Given the description of an element on the screen output the (x, y) to click on. 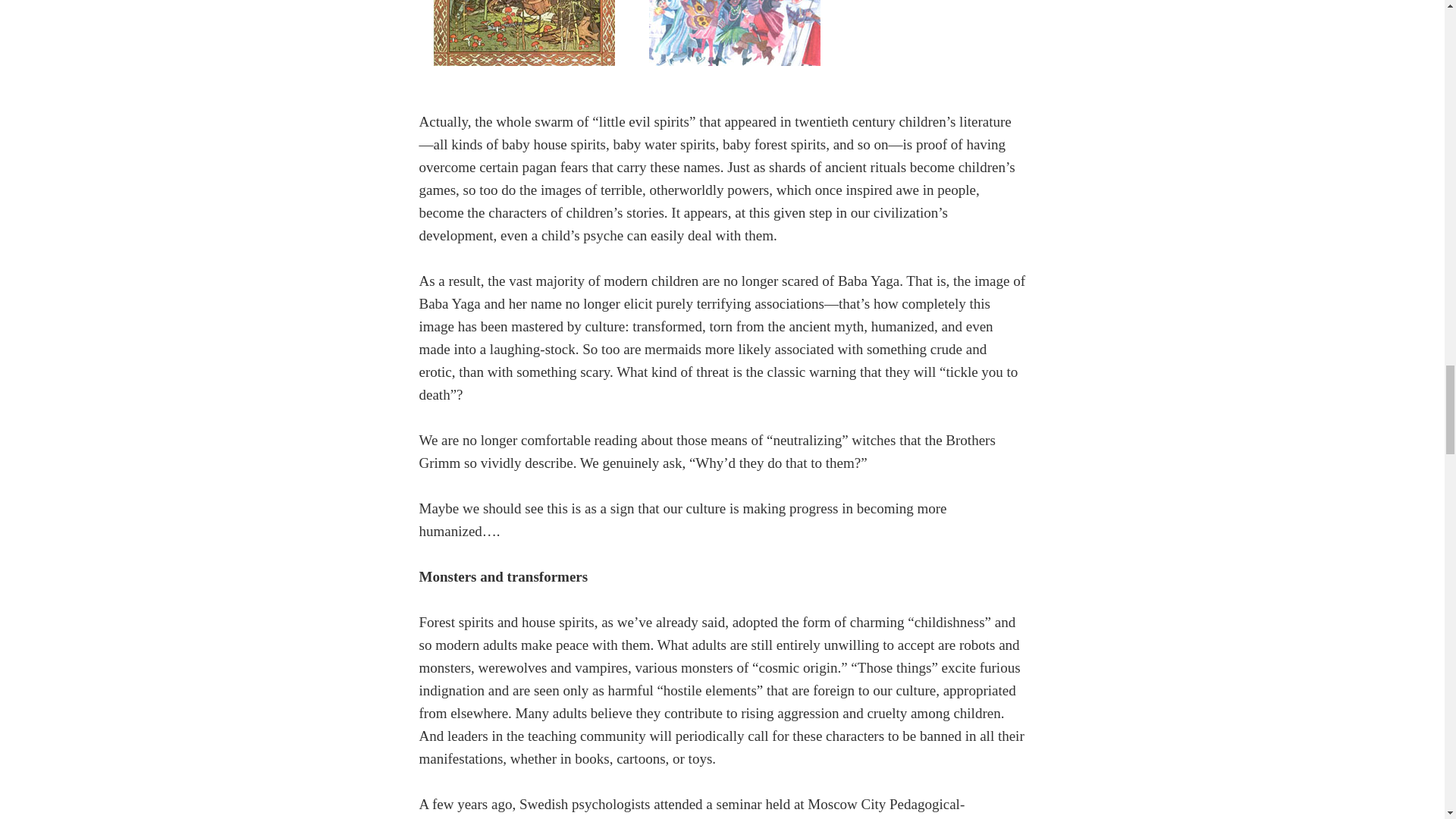
Ill. by Ivan Bilibin (524, 40)
Ill. by Nika Golts (734, 40)
